Given the description of an element on the screen output the (x, y) to click on. 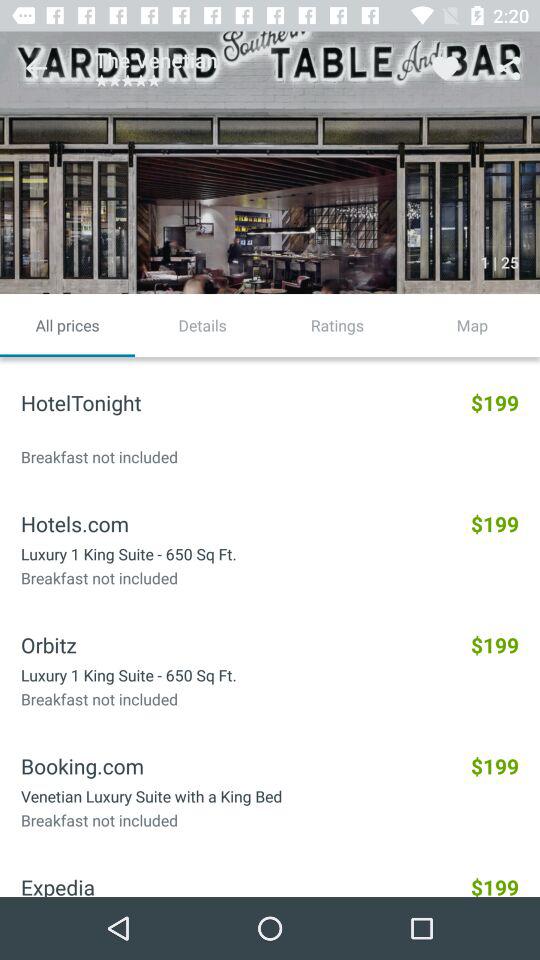
tap the details item (202, 325)
